Given the description of an element on the screen output the (x, y) to click on. 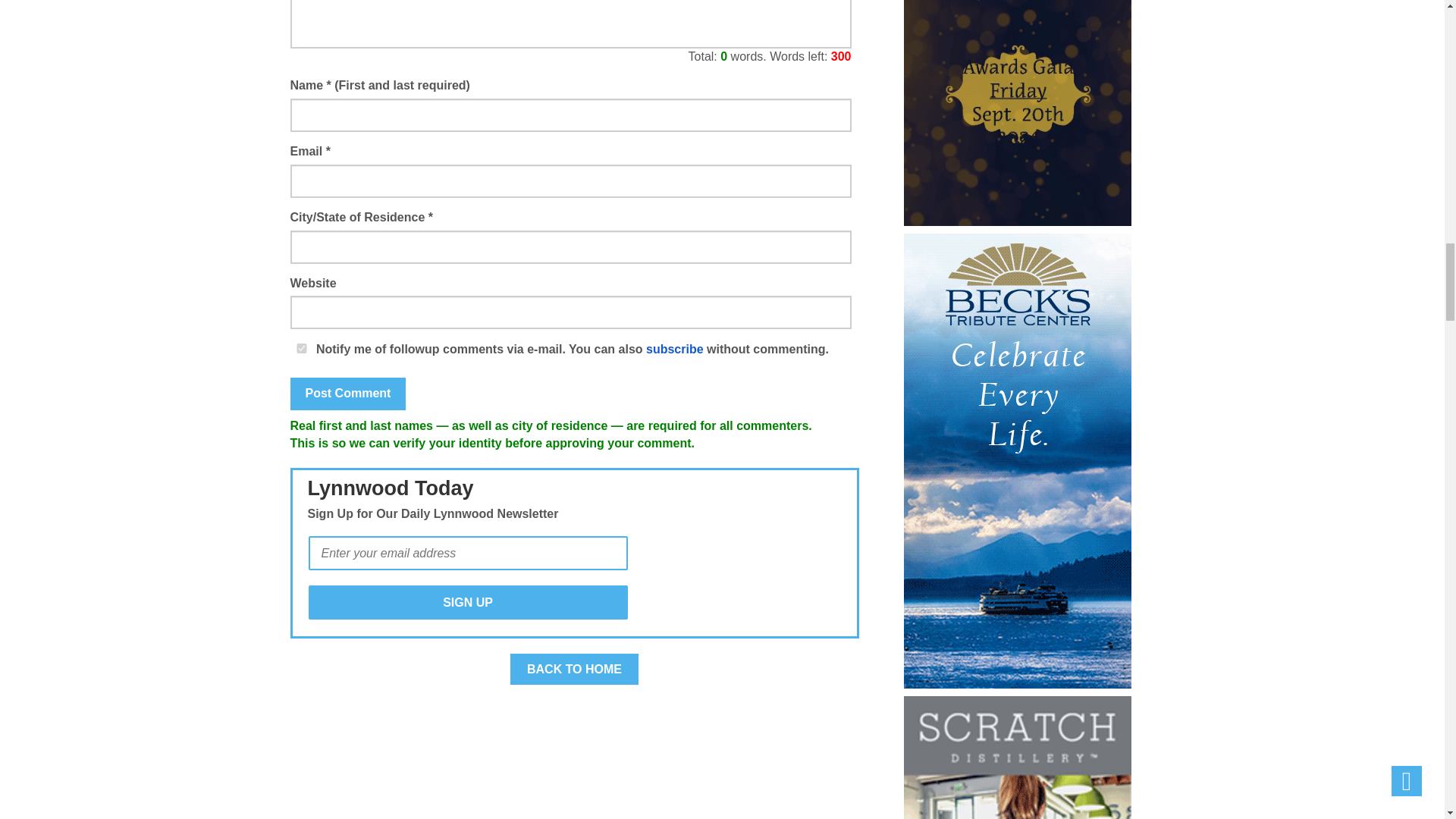
Sign Up (467, 602)
Post Comment (347, 393)
yes (301, 347)
